Given the description of an element on the screen output the (x, y) to click on. 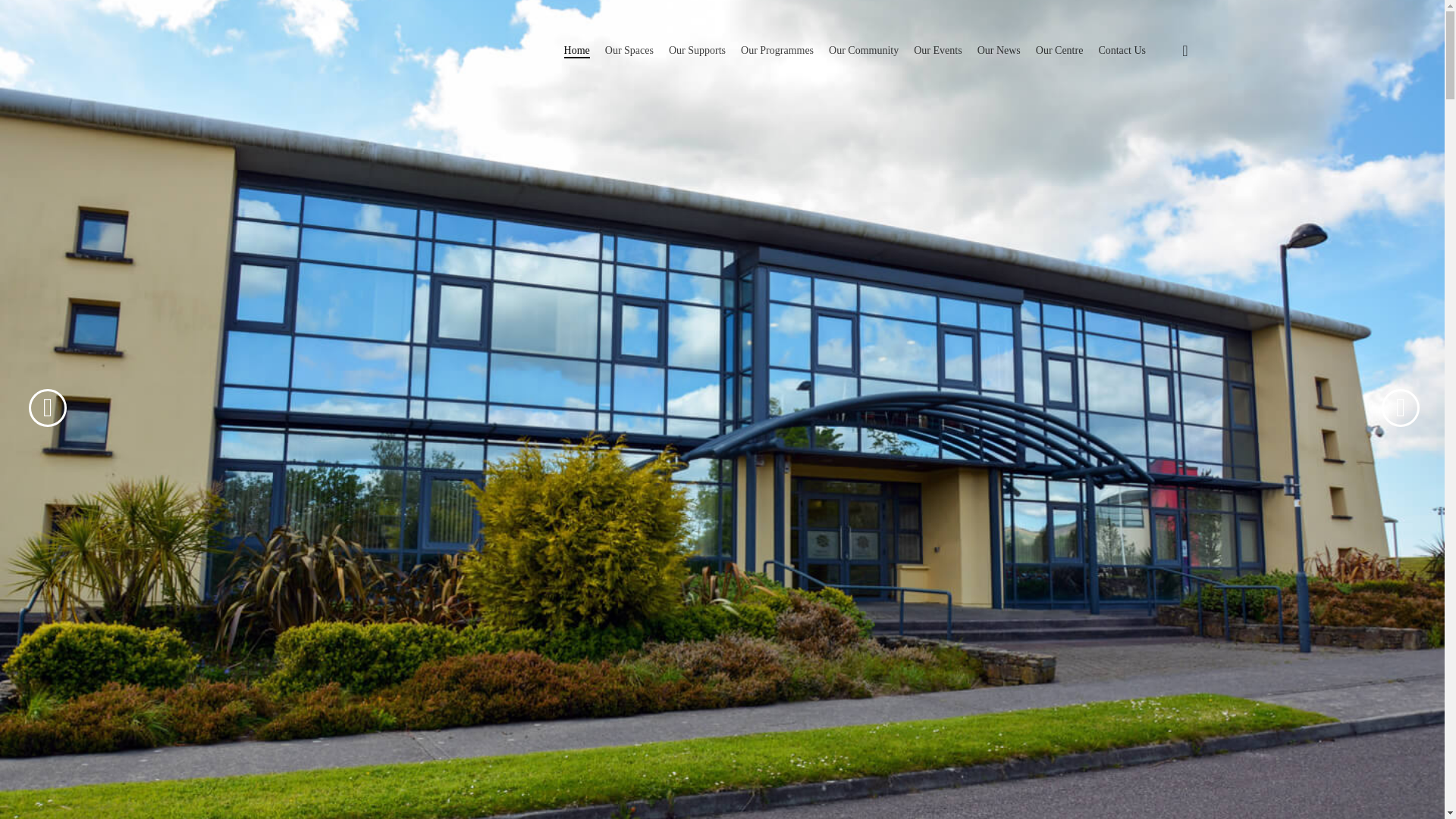
Our Centre (1059, 50)
Our Programmes (777, 50)
Home (576, 50)
search (1184, 50)
Our Supports (696, 50)
Our Community (863, 50)
Contact Us (1121, 50)
Our News (998, 50)
Our Spaces (629, 50)
Our Events (937, 50)
